Given the description of an element on the screen output the (x, y) to click on. 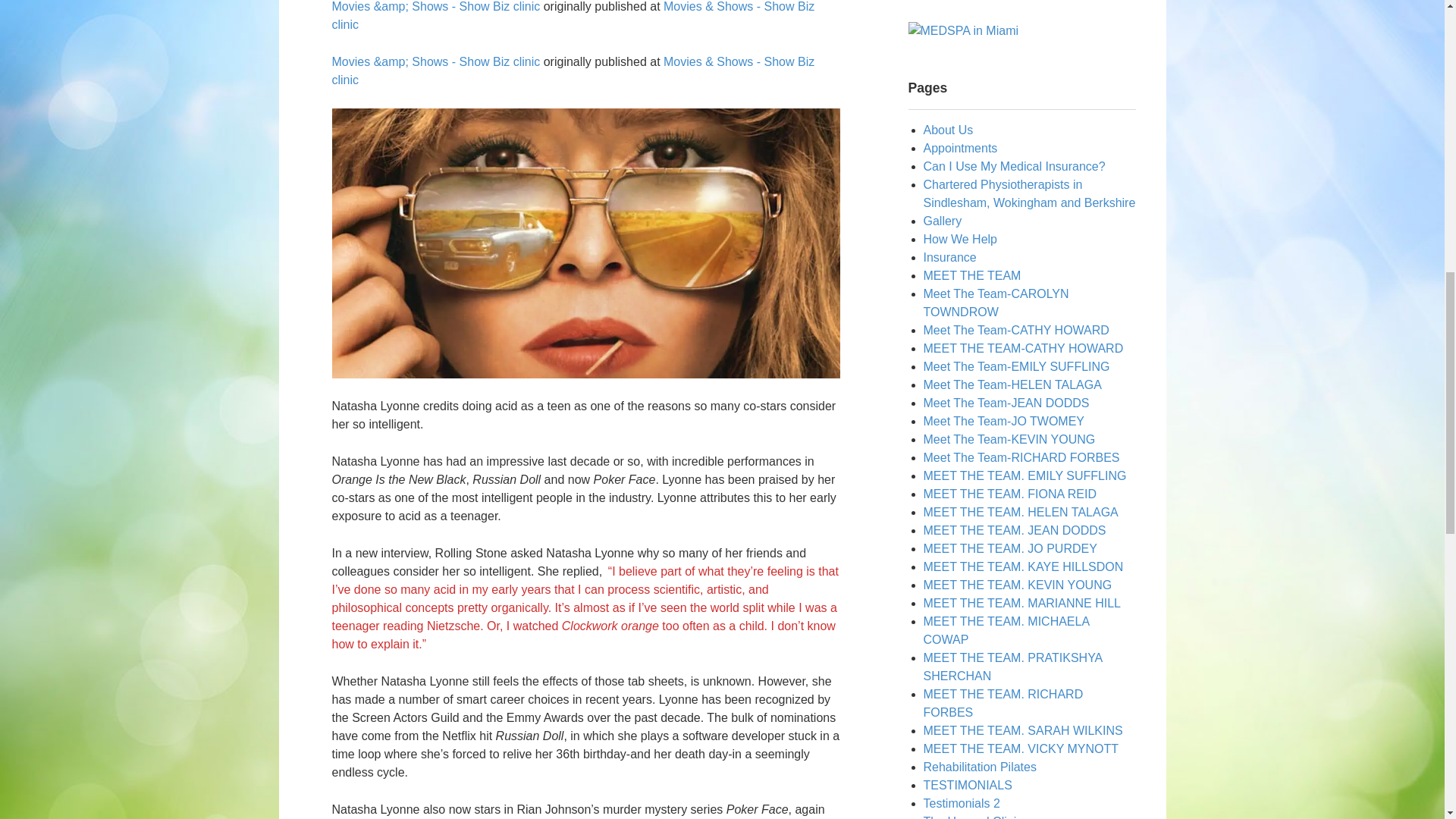
MEDSPA in Miami (963, 31)
